Given the description of an element on the screen output the (x, y) to click on. 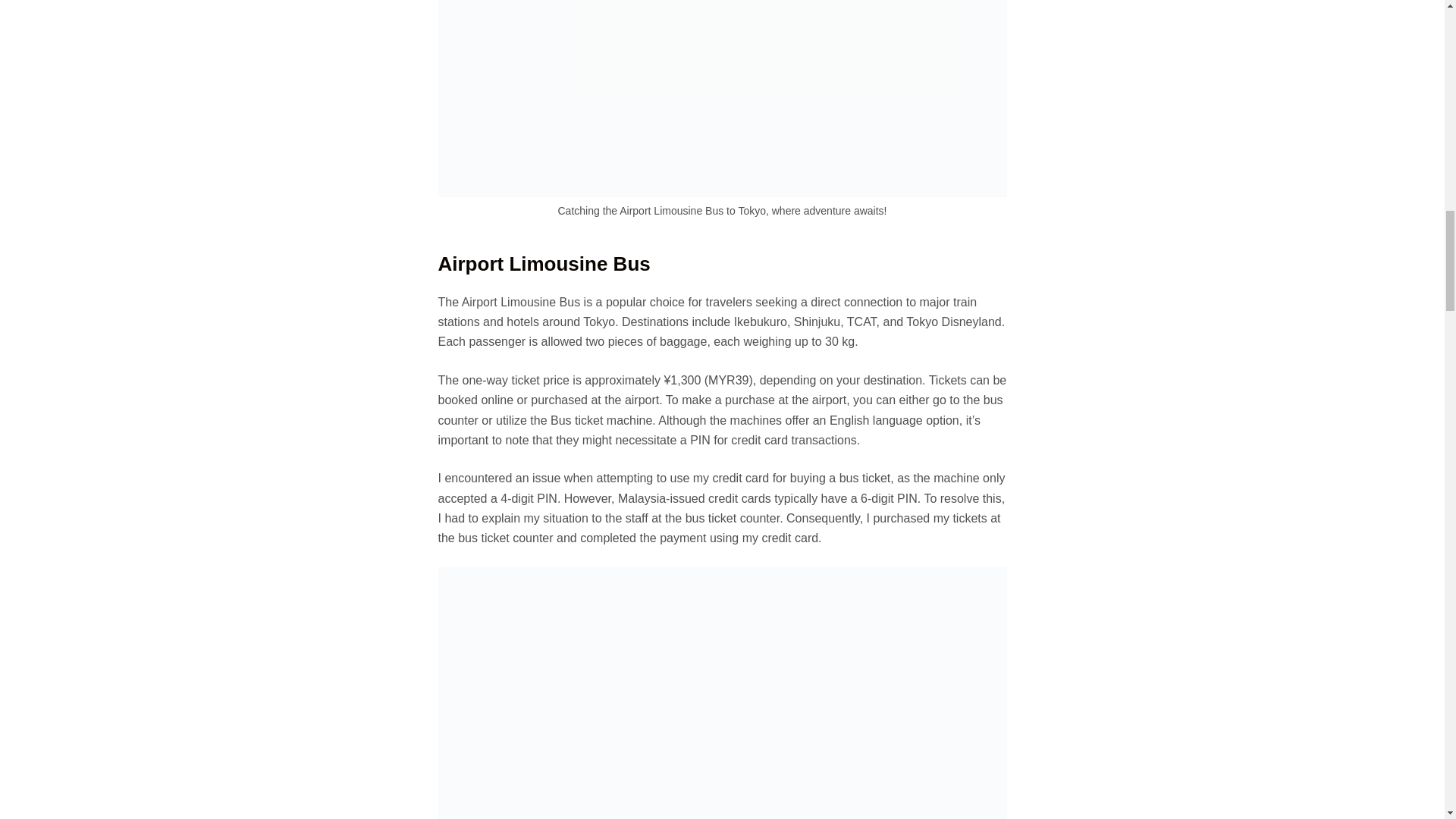
How to get from Haneda Airport To Tokyo (722, 98)
